Given the description of an element on the screen output the (x, y) to click on. 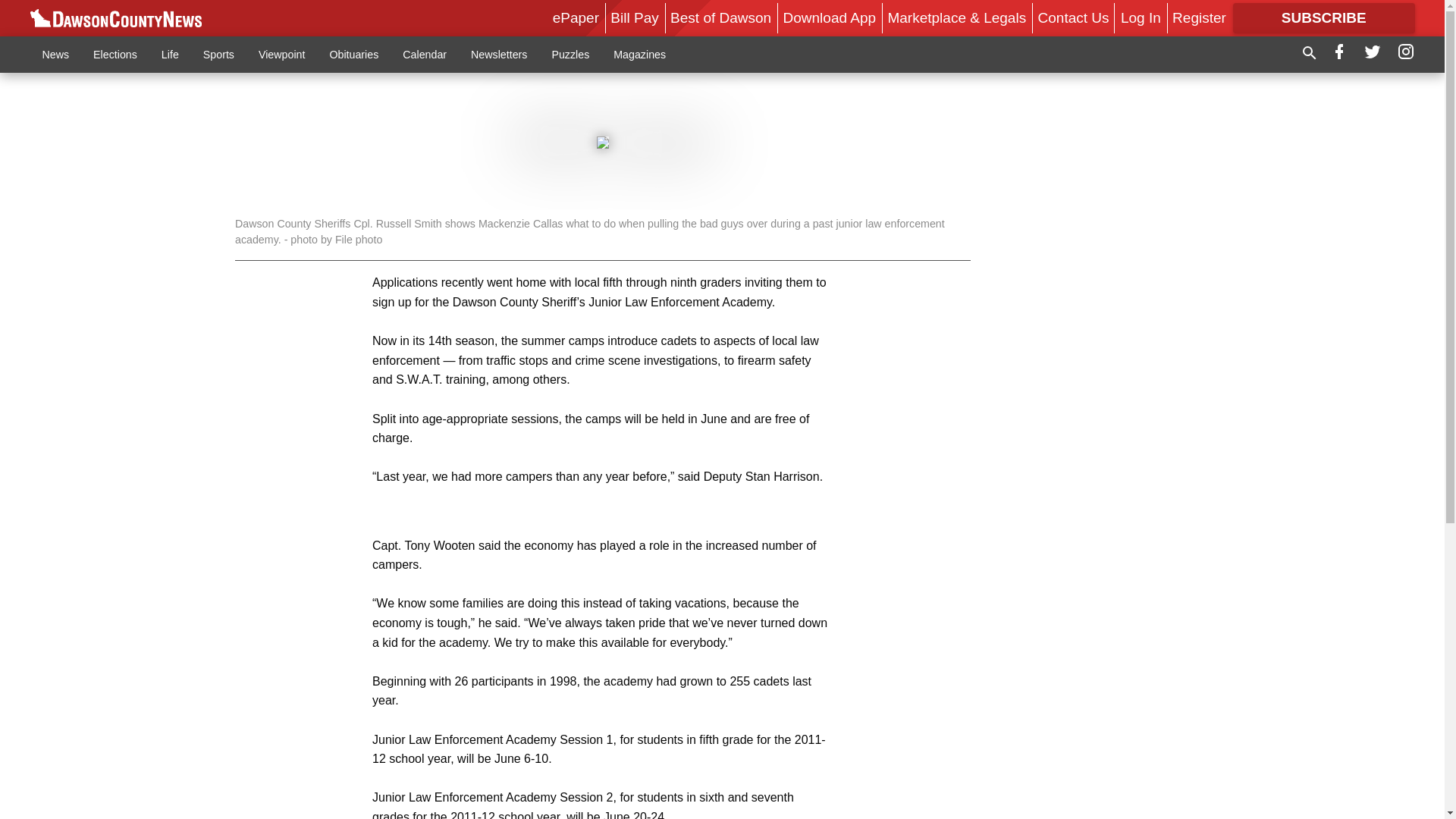
Download App (829, 17)
Register (1198, 17)
Best of Dawson (720, 17)
Log In (1140, 17)
Contact Us (1073, 17)
ePaper (575, 17)
SUBSCRIBE (1324, 18)
Bill Pay (634, 17)
